Given the description of an element on the screen output the (x, y) to click on. 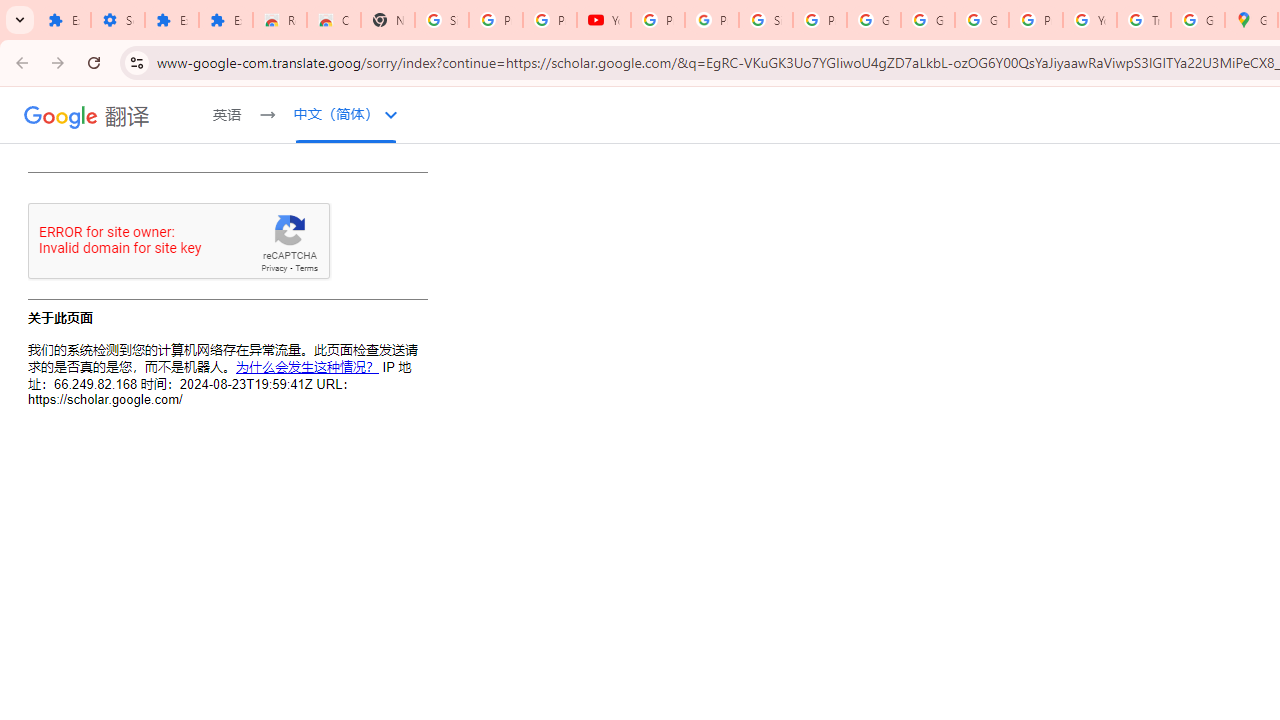
New Tab (387, 20)
Extensions (171, 20)
Google (61, 116)
Sign in - Google Accounts (441, 20)
Google Account (874, 20)
Settings (117, 20)
Chrome Web Store - Themes (333, 20)
Reviews: Helix Fruit Jump Arcade Game (280, 20)
